Given the description of an element on the screen output the (x, y) to click on. 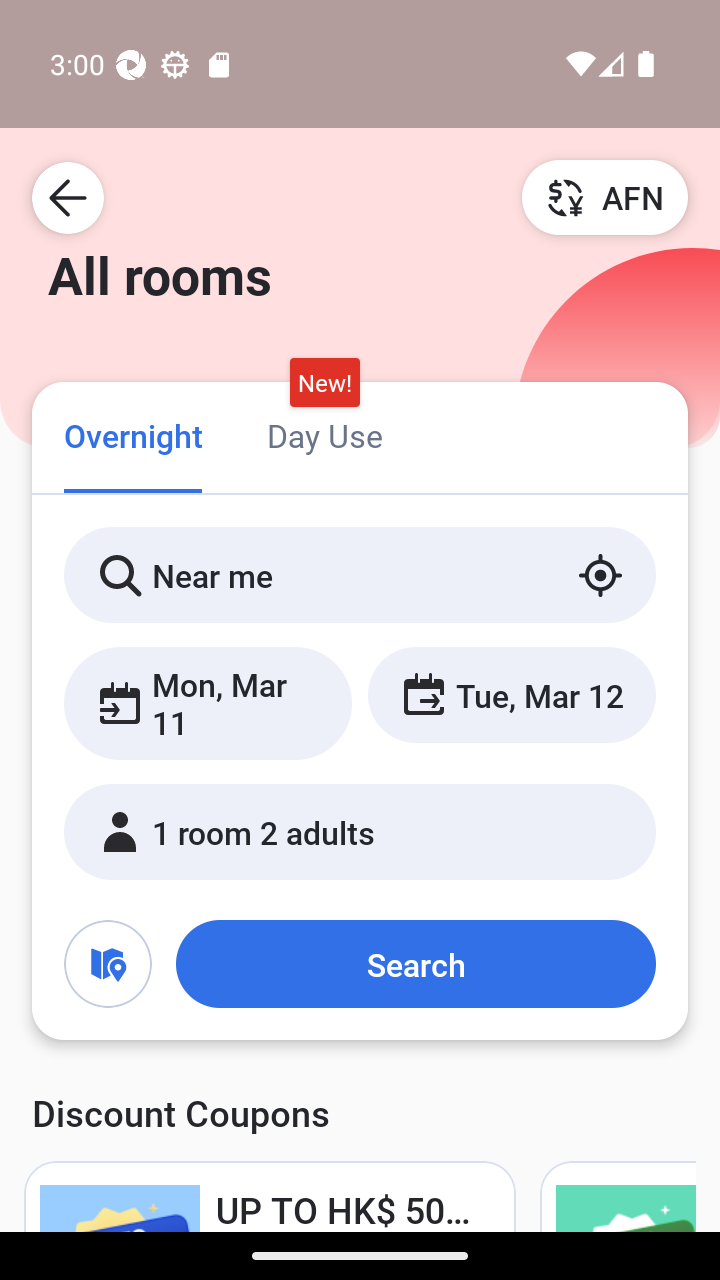
AFN (605, 197)
New! (324, 383)
Day Use (324, 434)
Near me (359, 575)
Mon, Mar 11 (208, 703)
Tue, Mar 12 (511, 694)
1 room 2 adults (359, 831)
Search (415, 964)
